Given the description of an element on the screen output the (x, y) to click on. 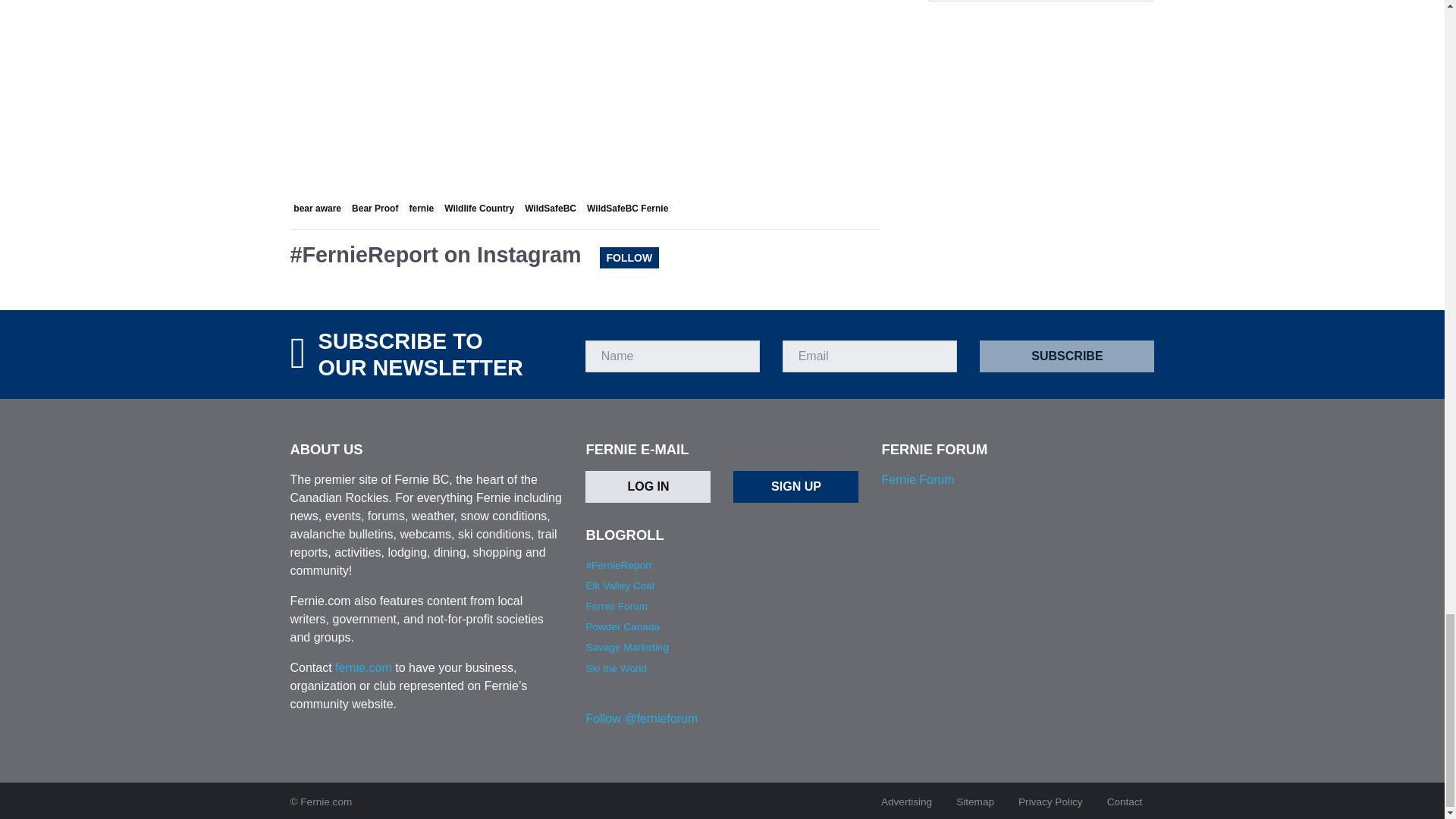
Social media posts on everything Fernie. (617, 564)
Savage Markerting is based in Fernie BC (626, 646)
Subscribe (1066, 356)
